Given the description of an element on the screen output the (x, y) to click on. 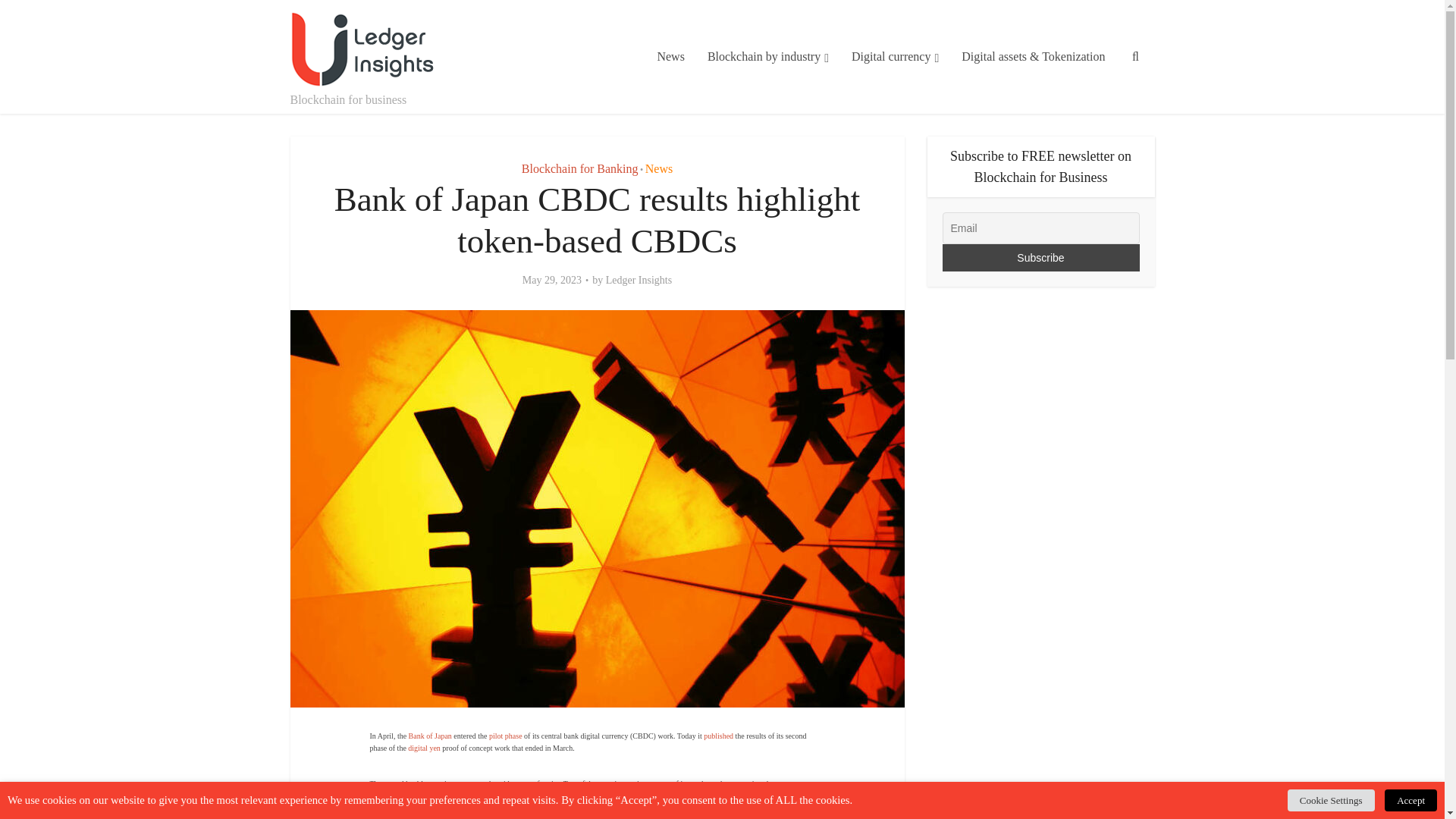
Blockchain by industry (767, 56)
Digital currency (895, 56)
Subscribe (1040, 257)
